Given the description of an element on the screen output the (x, y) to click on. 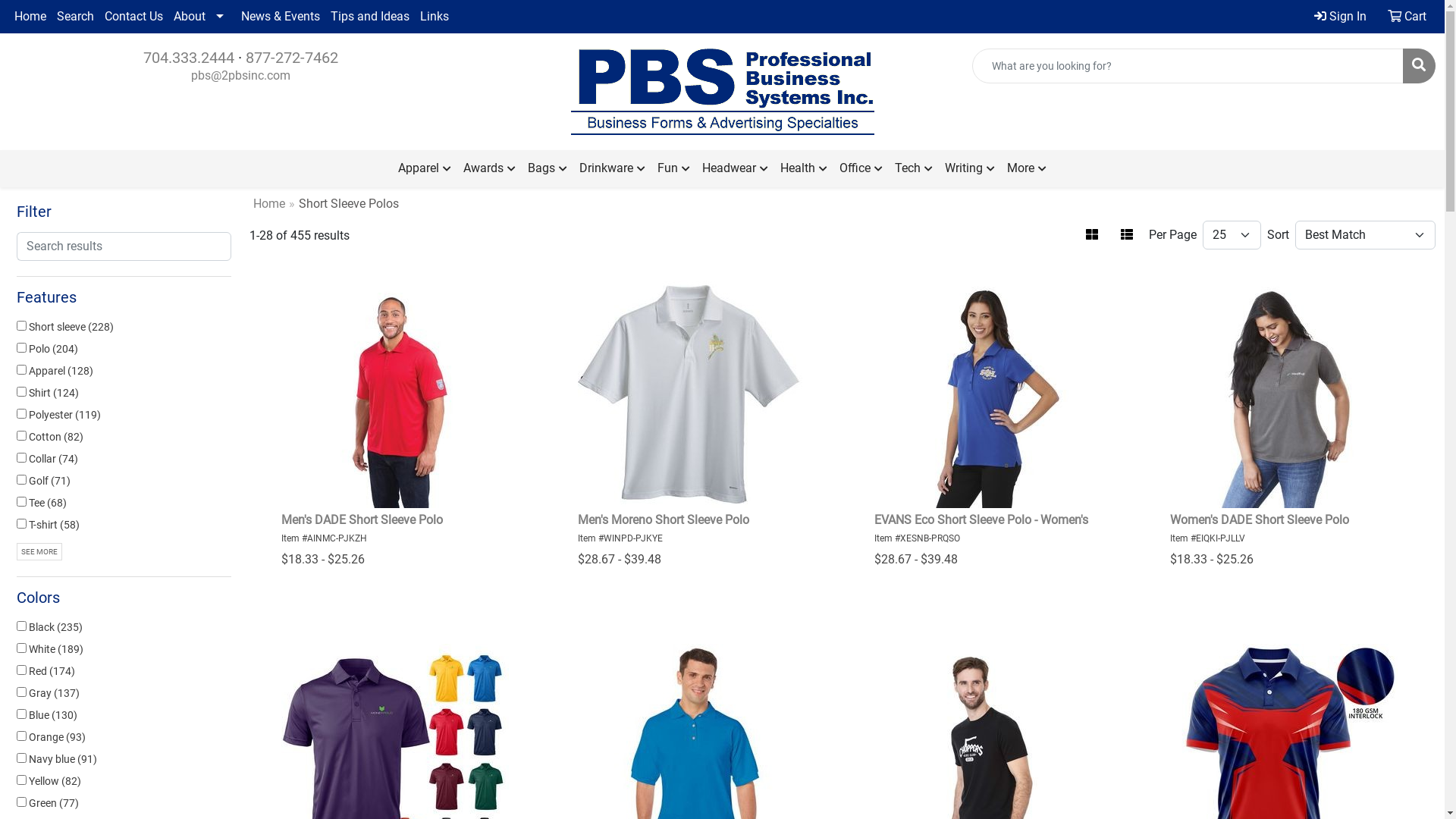
Search Element type: text (75, 16)
Office Element type: text (860, 168)
Awards Element type: text (489, 168)
More Element type: text (1026, 168)
About Element type: text (201, 16)
Headwear Element type: text (735, 168)
Apparel Element type: text (424, 168)
Health Element type: text (803, 168)
704.333.2444 Element type: text (188, 57)
Home Element type: text (30, 16)
News & Events Element type: text (280, 16)
Contact Us Element type: text (133, 16)
Tech Element type: text (913, 168)
Cart Element type: text (1406, 16)
Writing Element type: text (969, 168)
Bags Element type: text (547, 168)
Fun Element type: text (673, 168)
Drinkware Element type: text (612, 168)
Tips and Ideas Element type: text (369, 16)
877-272-7462 Element type: text (291, 57)
Sign In Element type: text (1339, 16)
pbs@2pbsinc.com Element type: text (240, 75)
Links Element type: text (434, 16)
